Given the description of an element on the screen output the (x, y) to click on. 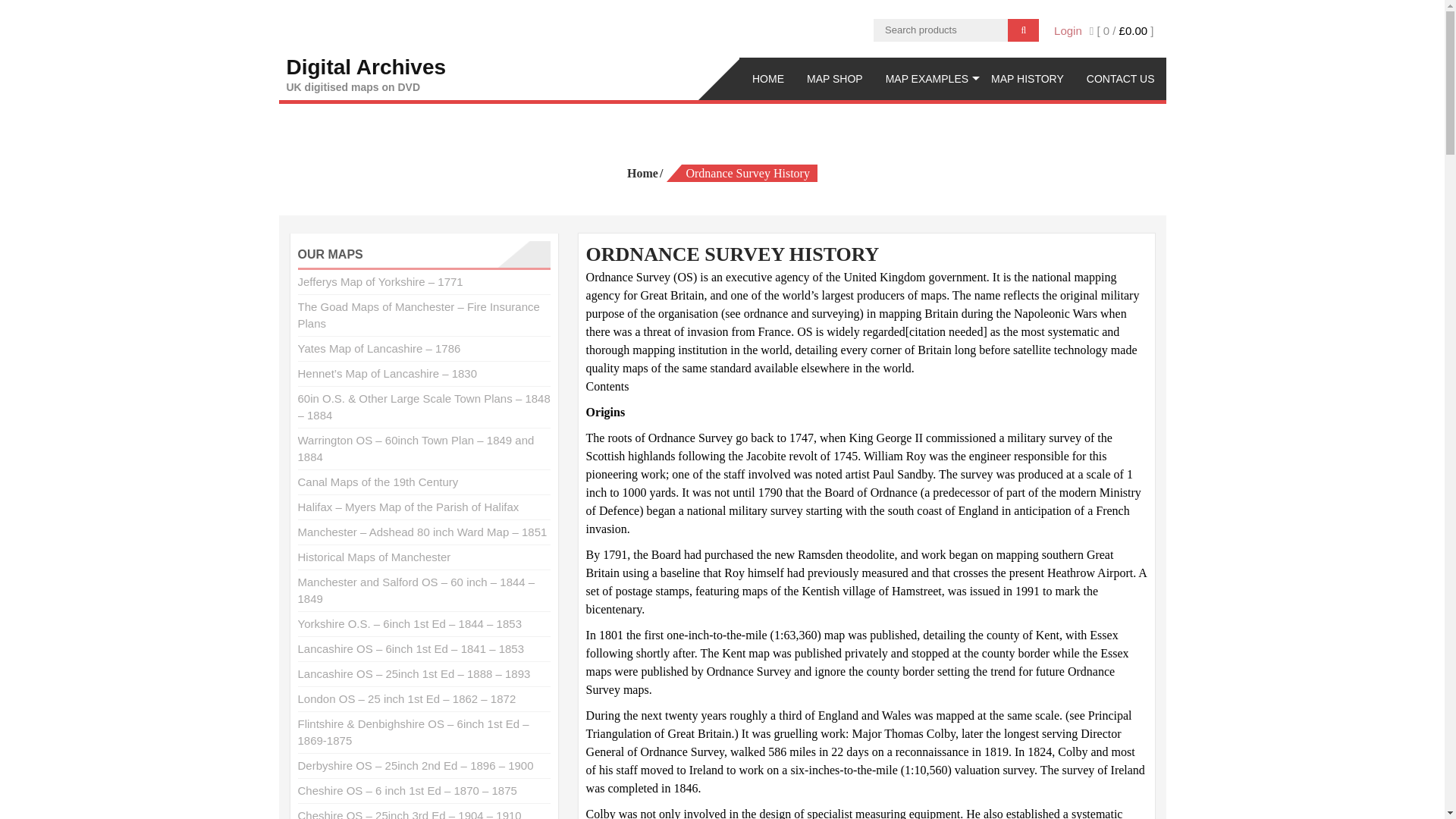
MAP SHOP (834, 78)
View your shopping cart (1121, 30)
MAP HISTORY (1027, 78)
Home (645, 172)
Login (366, 74)
MAP EXAMPLES (1067, 30)
Historical Maps of Manchester (927, 78)
CONTACT US (373, 556)
HOME (1120, 78)
